Given the description of an element on the screen output the (x, y) to click on. 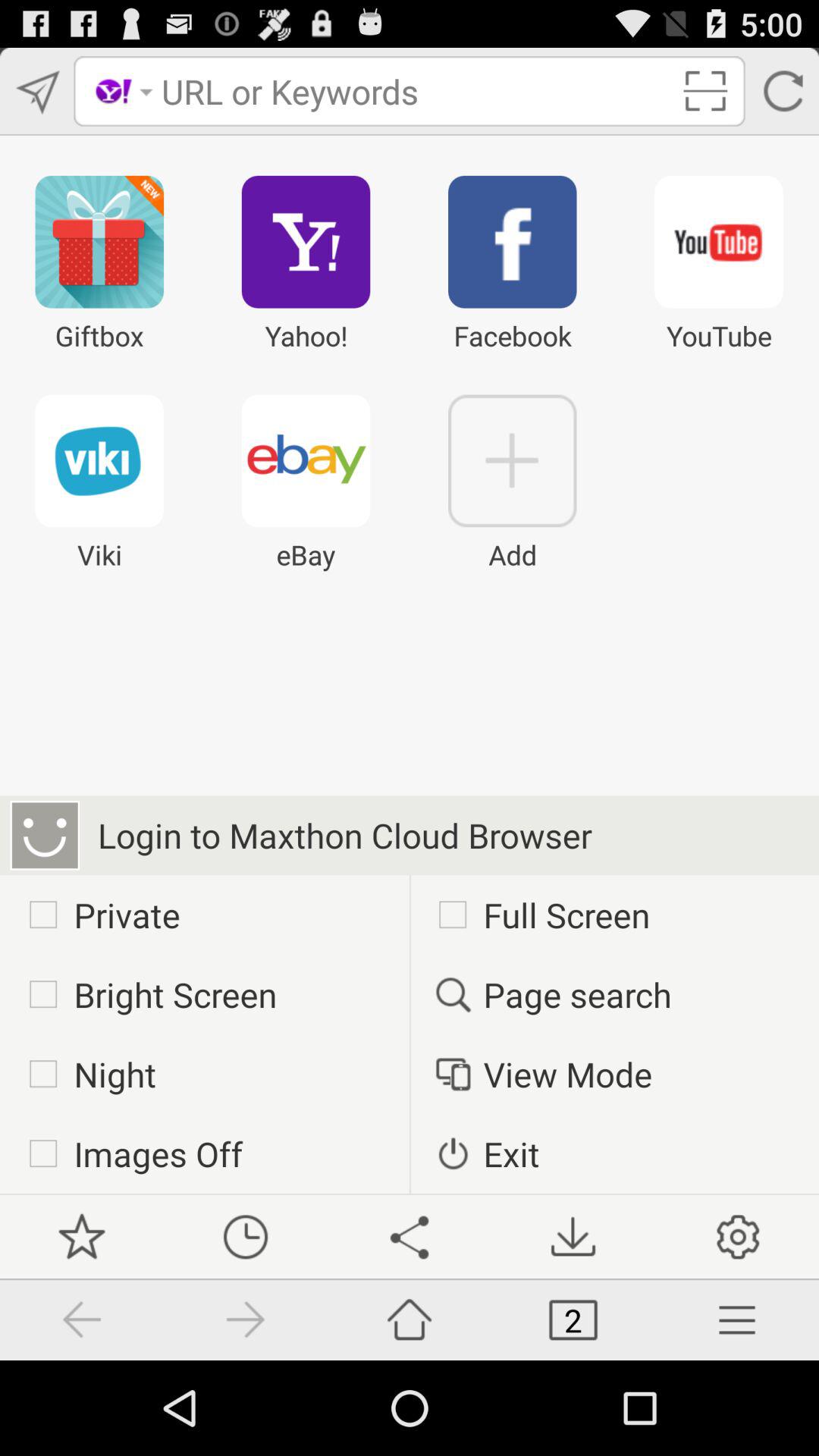
type url or keywords (415, 91)
